Given the description of an element on the screen output the (x, y) to click on. 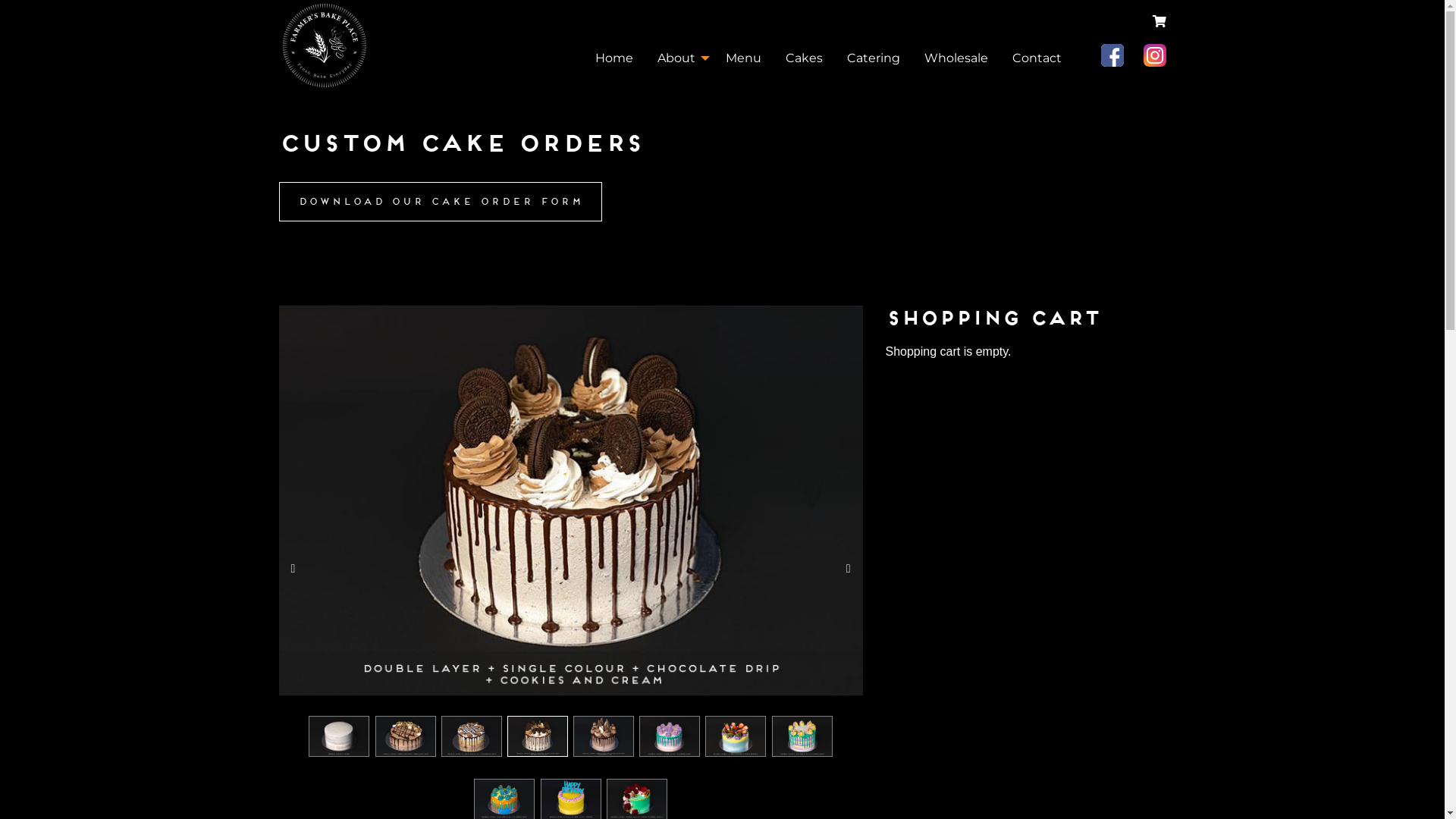
Contact Element type: text (1036, 57)
Wholesale Element type: text (955, 57)
Cakes Element type: text (803, 57)
Menu Element type: text (742, 57)
Catering Element type: text (872, 57)
About Element type: text (678, 57)
Home Element type: text (613, 57)
DOWNLOAD OUR CAKE ORDER FORM Element type: text (440, 201)
